Given the description of an element on the screen output the (x, y) to click on. 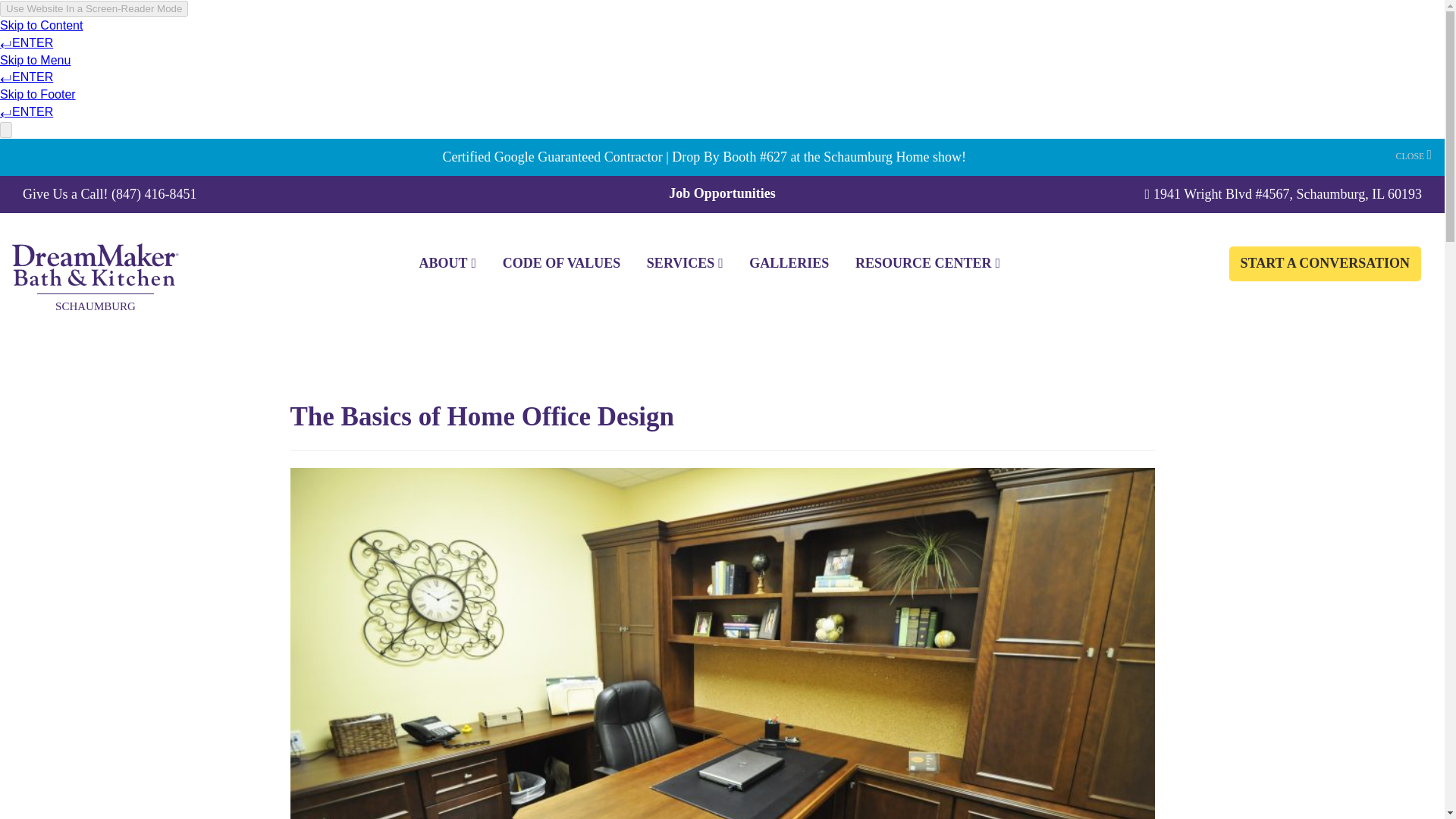
RESOURCE CENTER (927, 263)
SCHAUMBURG (95, 271)
ABOUT (447, 263)
GALLERIES (789, 263)
CODE OF VALUES (561, 263)
Job Opportunities (722, 192)
START A CONVERSATION (1324, 263)
SERVICES (684, 263)
CLOSE (1412, 155)
